Given the description of an element on the screen output the (x, y) to click on. 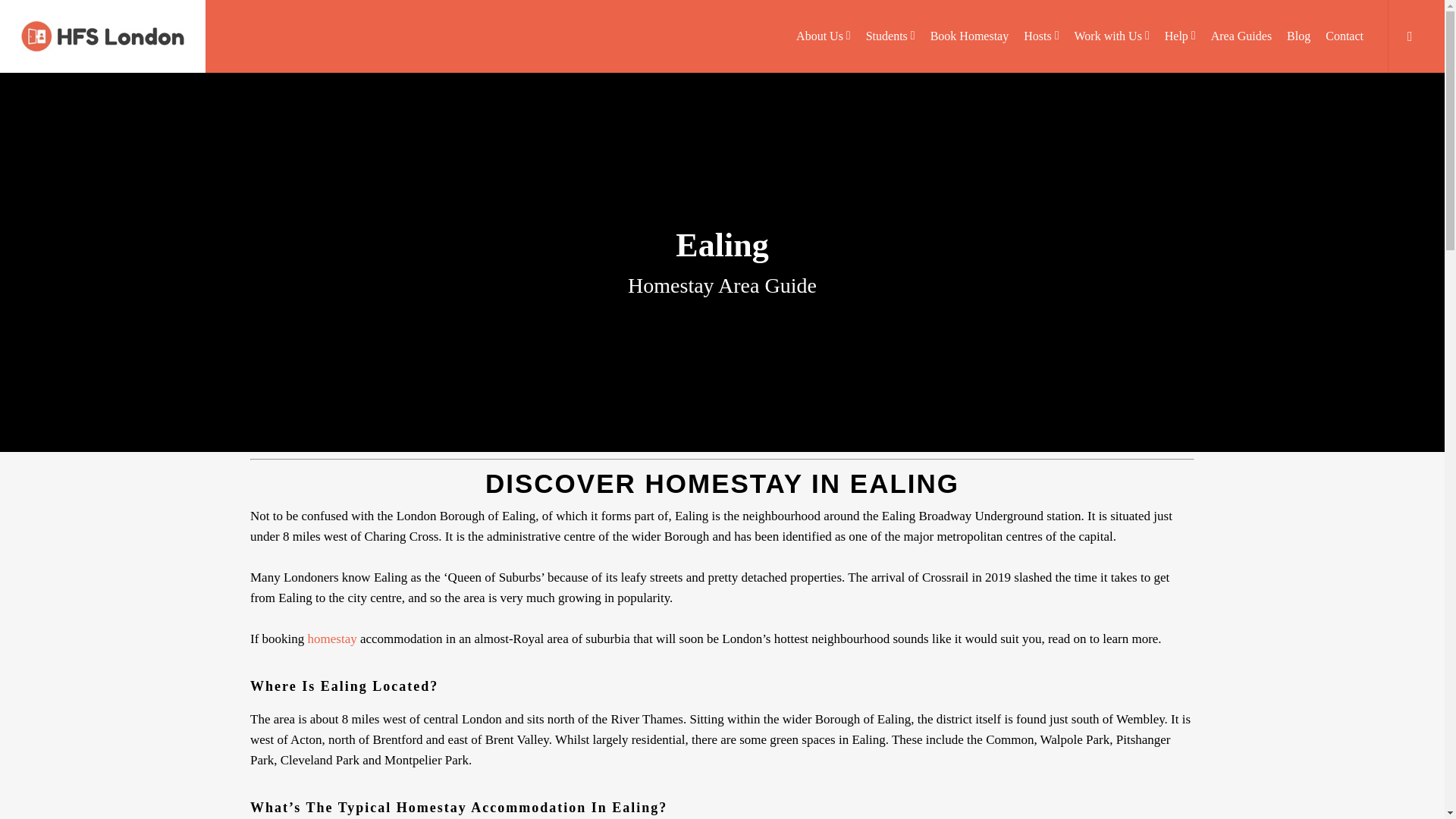
Work with Us (1112, 35)
Contact (1344, 35)
homestay (331, 638)
Help (1180, 35)
About Us (824, 35)
Blog (1298, 35)
Hosts (1040, 35)
Students (891, 35)
Book Homestay (969, 35)
Area Guides (1241, 35)
